Given the description of an element on the screen output the (x, y) to click on. 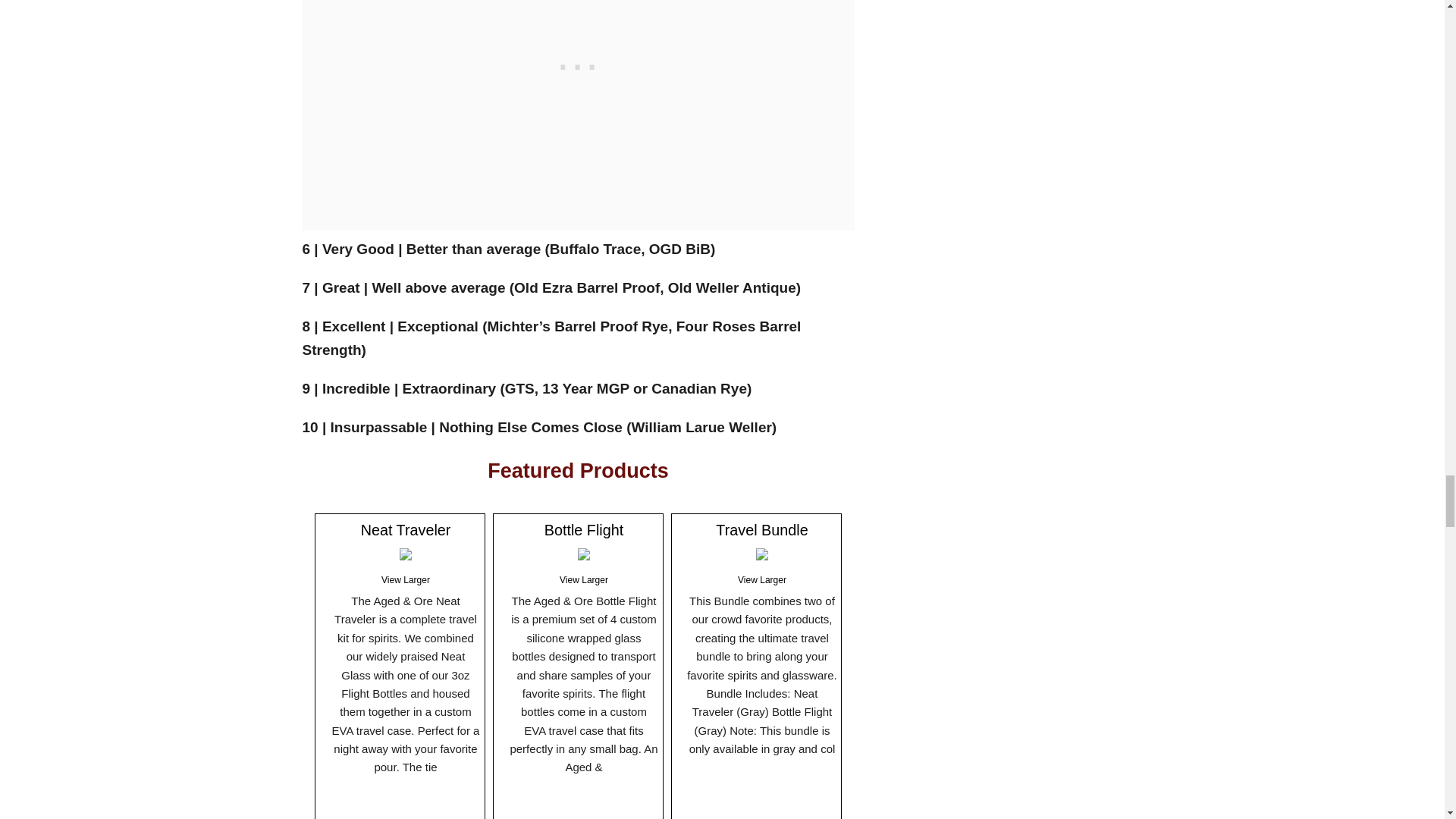
Travel Bundle (762, 529)
View Larger (405, 579)
View Larger (762, 579)
Neat Traveler (406, 529)
View Larger (583, 579)
Bottle Flight (583, 529)
